Given the description of an element on the screen output the (x, y) to click on. 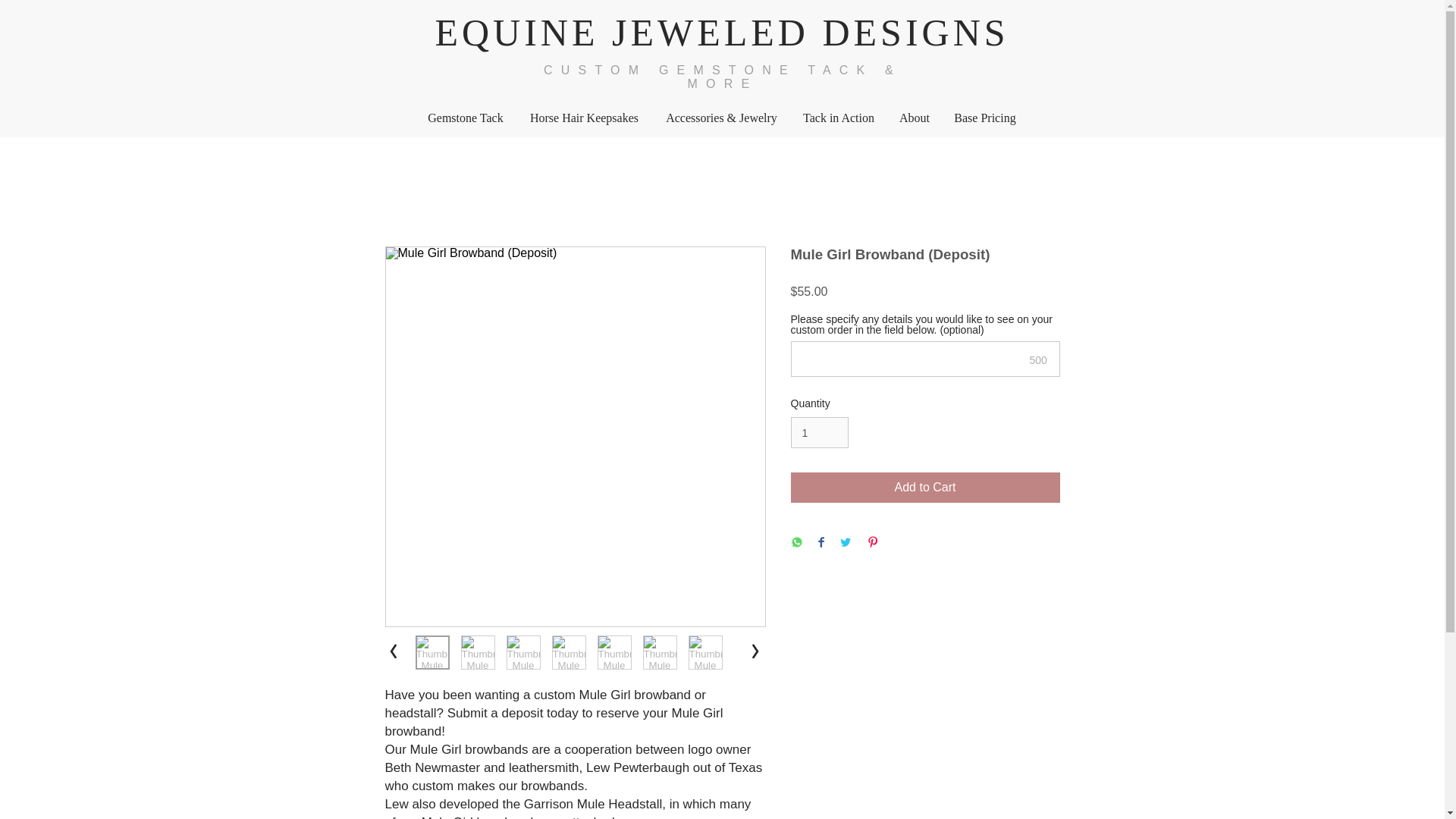
1 (818, 431)
Horse Hair Keepsakes (584, 118)
EQUINE JEWELED DESIGNS (721, 32)
Base Pricing (985, 118)
Tack in Action (839, 118)
Gemstone Tack (464, 118)
About (913, 118)
Add to Cart (924, 487)
